Given the description of an element on the screen output the (x, y) to click on. 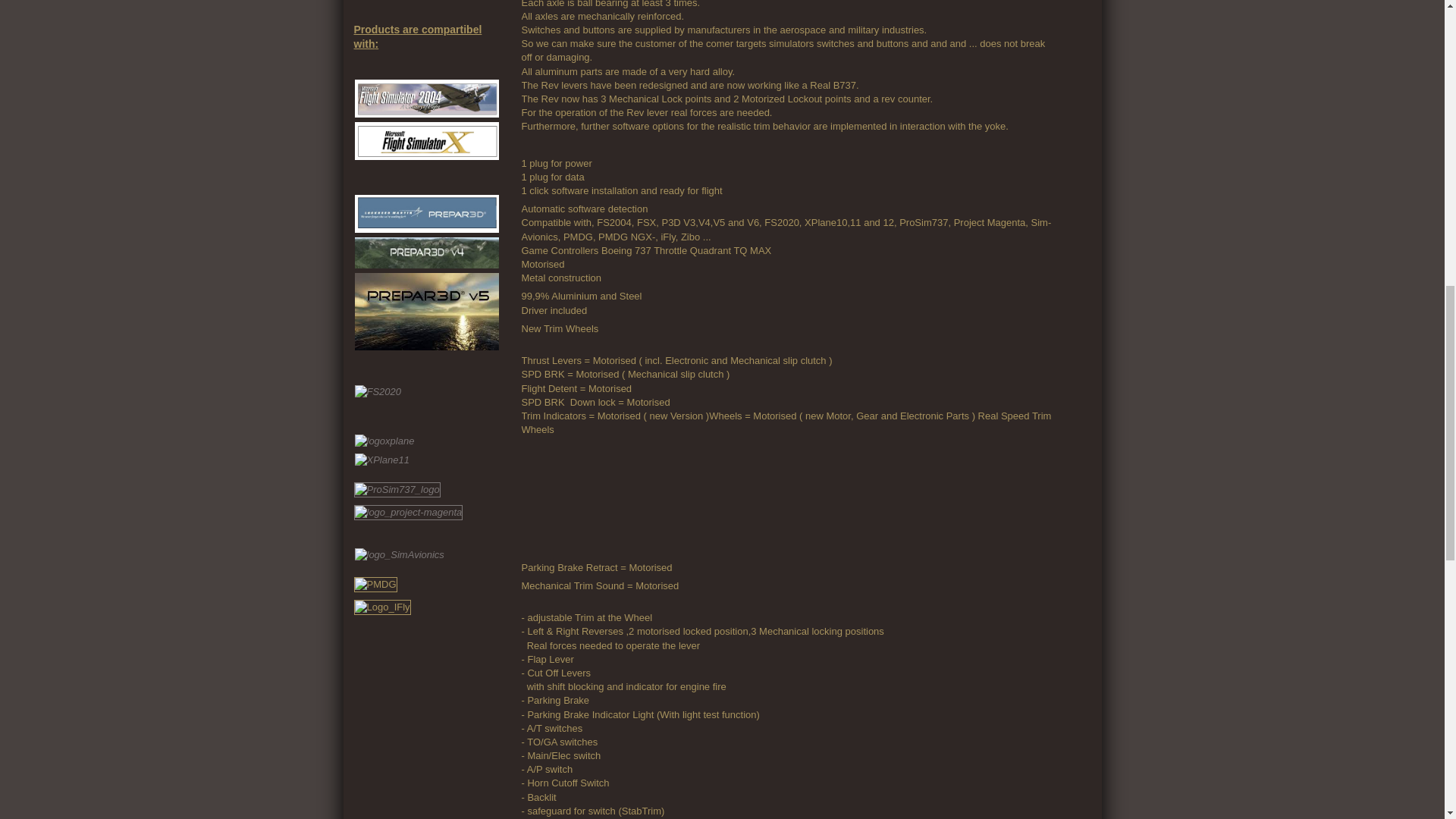
logoxplane (384, 440)
App (597, 496)
XPlane11 (382, 459)
logoprepar3d (427, 213)
FS2020 (378, 391)
